Given the description of an element on the screen output the (x, y) to click on. 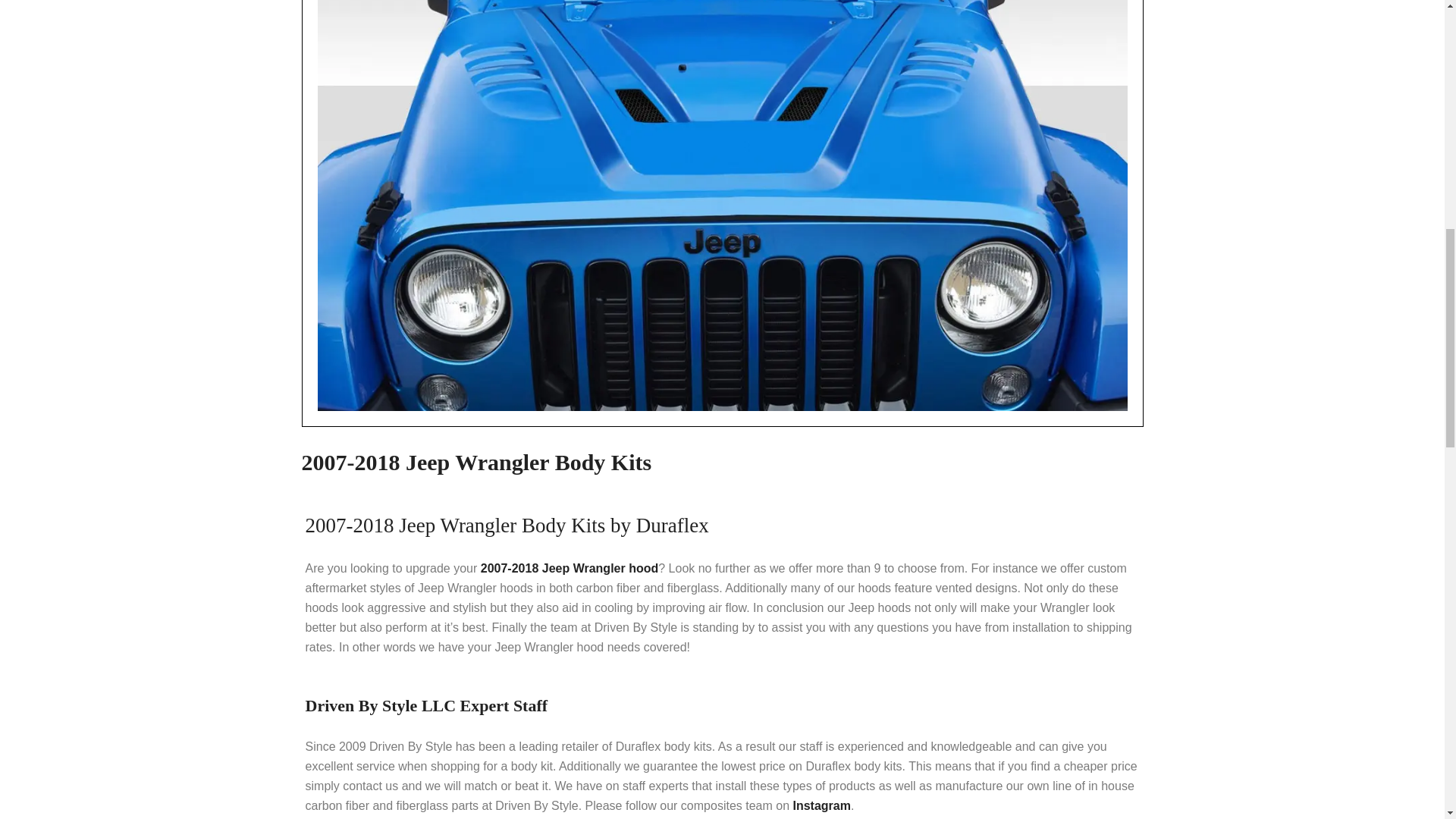
Instagram (821, 805)
